Given the description of an element on the screen output the (x, y) to click on. 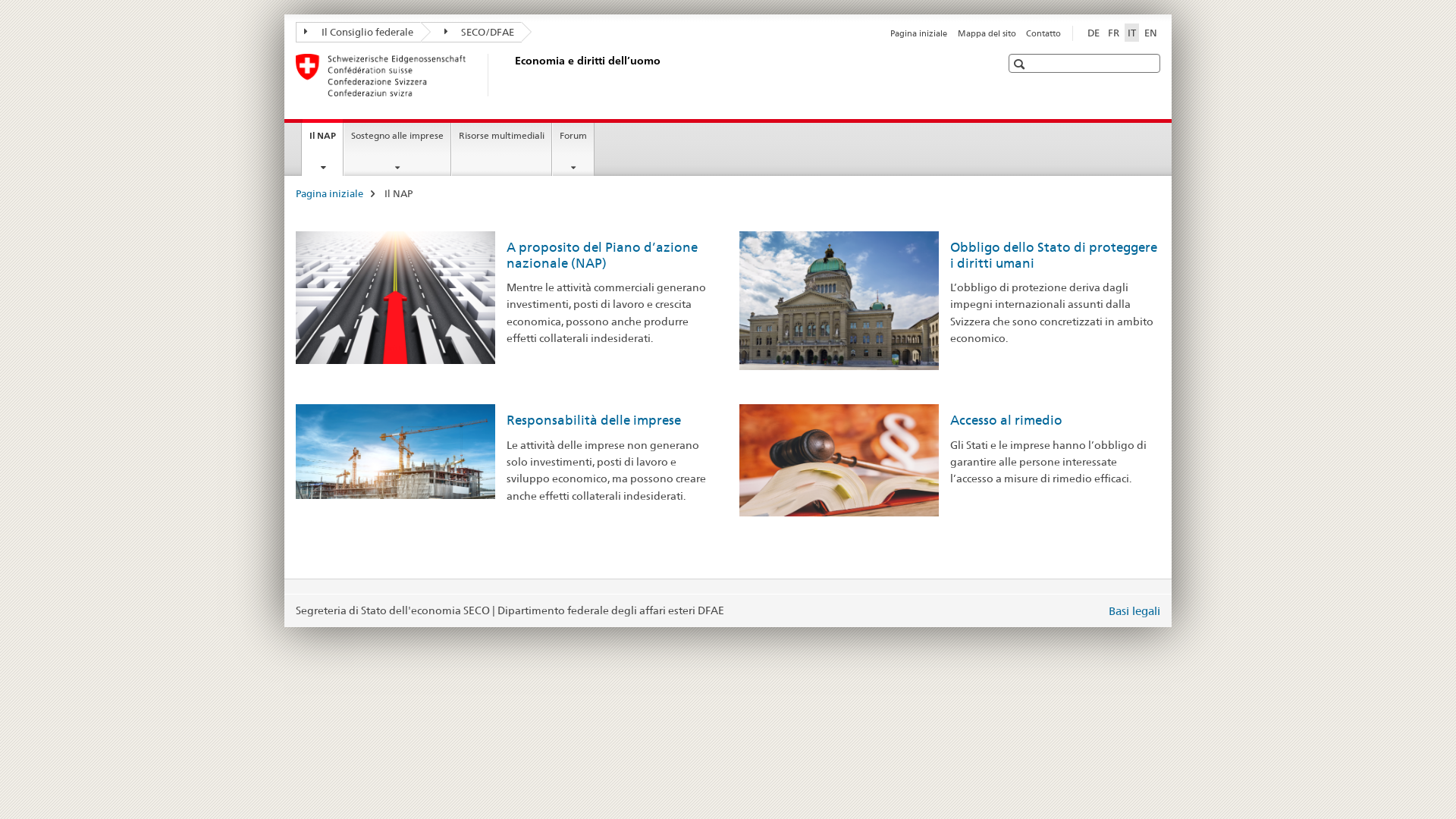
Mappa del sito Element type: text (986, 33)
SECO/DFAE Element type: text (470, 31)
FR Element type: text (1113, 32)
IT Element type: text (1131, 32)
Pagina iniziale Element type: text (918, 33)
Basi legali Element type: text (1134, 610)
Il Consiglio federale Element type: text (357, 31)
Accesso al rimedio Element type: text (1005, 419)
Obbligo dello Stato di proteggere i diritti umani Element type: text (1052, 254)
Risorse multimediali Element type: text (501, 148)
EN Element type: text (1150, 32)
Pagina iniziale Element type: text (329, 193)
Sostegno alle imprese Element type: text (397, 148)
Contatto Element type: text (1043, 33)
Forum Element type: text (572, 148)
DE Element type: text (1093, 32)
Il NAP
current page Element type: text (322, 147)
